Given the description of an element on the screen output the (x, y) to click on. 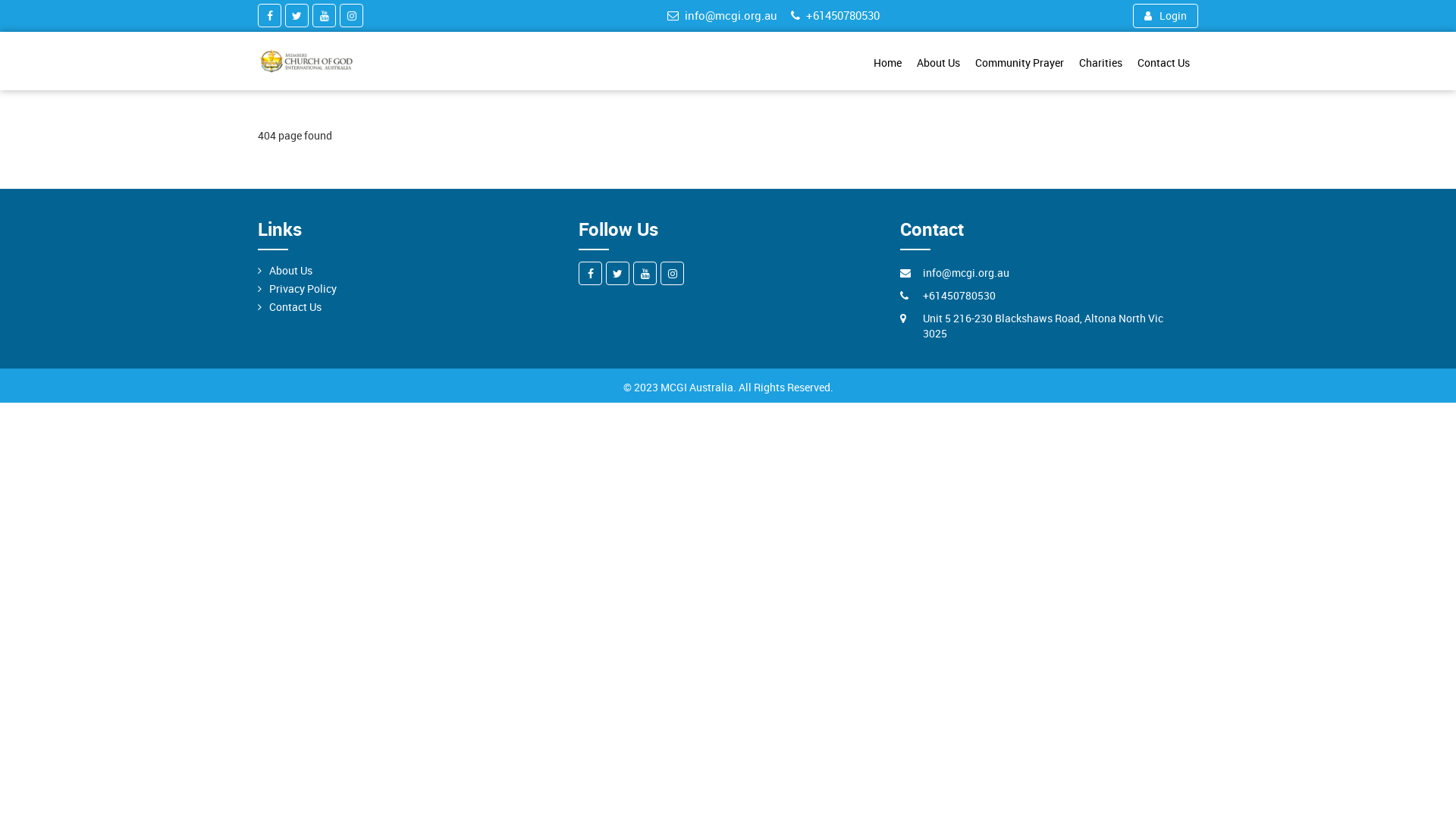
About Us Element type: text (291, 270)
info@mcgi.org.au Element type: text (964, 272)
Charities Element type: text (1100, 62)
Home Element type: text (888, 62)
Login Element type: text (1168, 15)
info@mcgi.org.au Element type: text (722, 15)
Contact Us Element type: text (1163, 62)
Privacy Policy Element type: text (302, 288)
Community Prayer Element type: text (1021, 62)
About Us Element type: text (939, 62)
Contact Us Element type: text (295, 307)
